Given the description of an element on the screen output the (x, y) to click on. 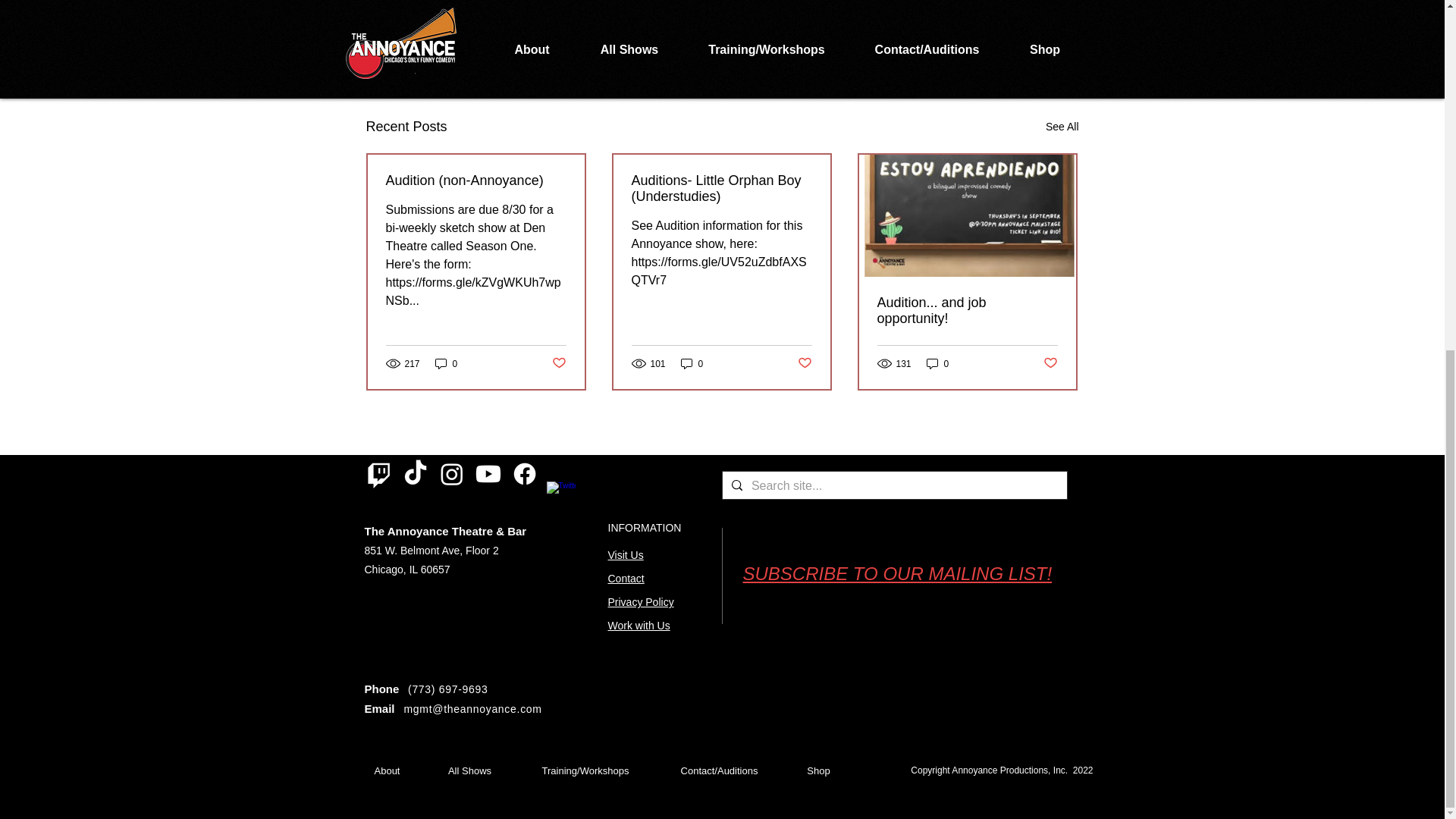
Post not marked as liked (558, 363)
Post not marked as liked (995, 43)
Post not marked as liked (804, 363)
0 (446, 363)
0 (691, 363)
See All (1061, 127)
